Given the description of an element on the screen output the (x, y) to click on. 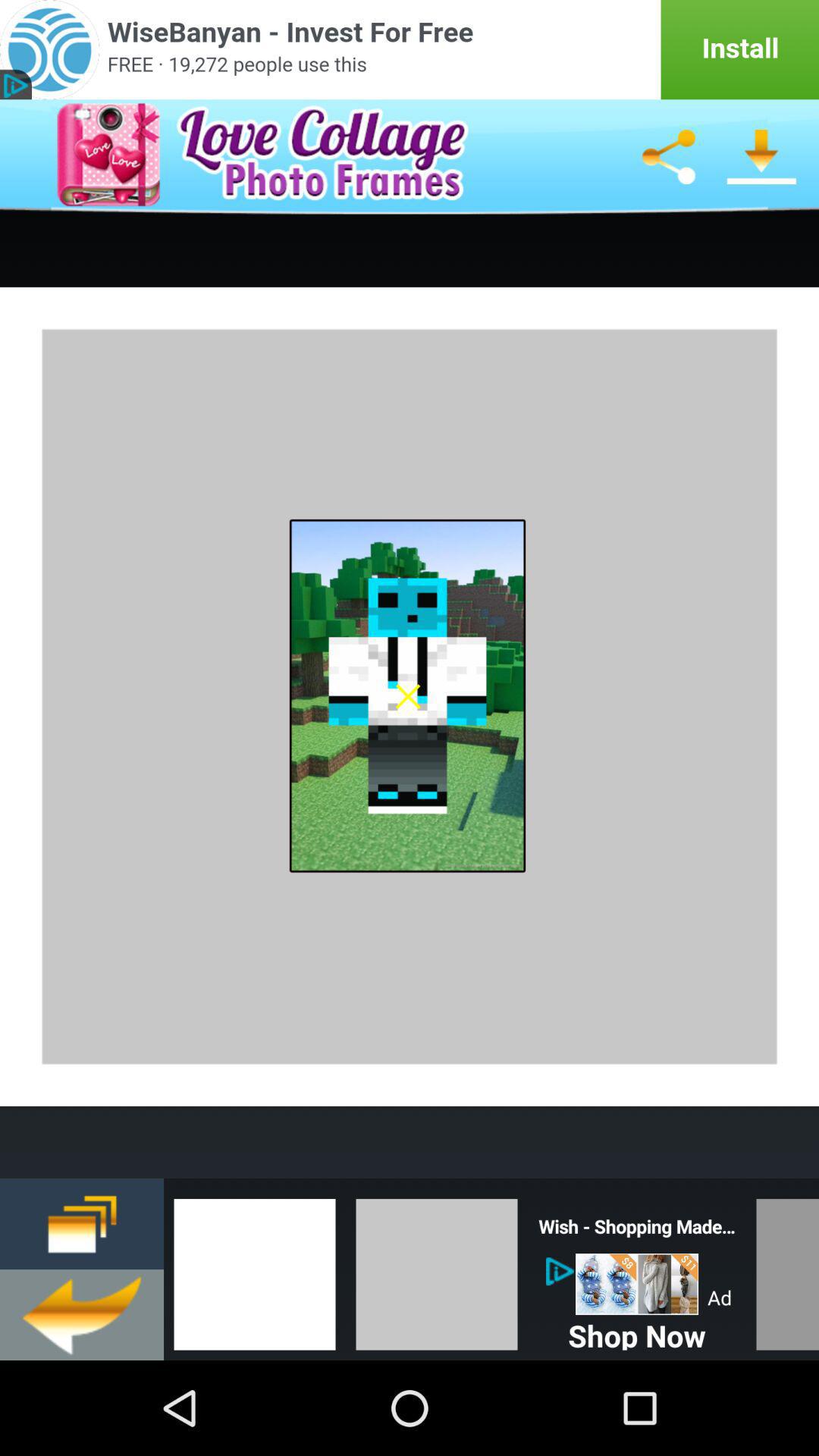
press the shop now (636, 1332)
